Given the description of an element on the screen output the (x, y) to click on. 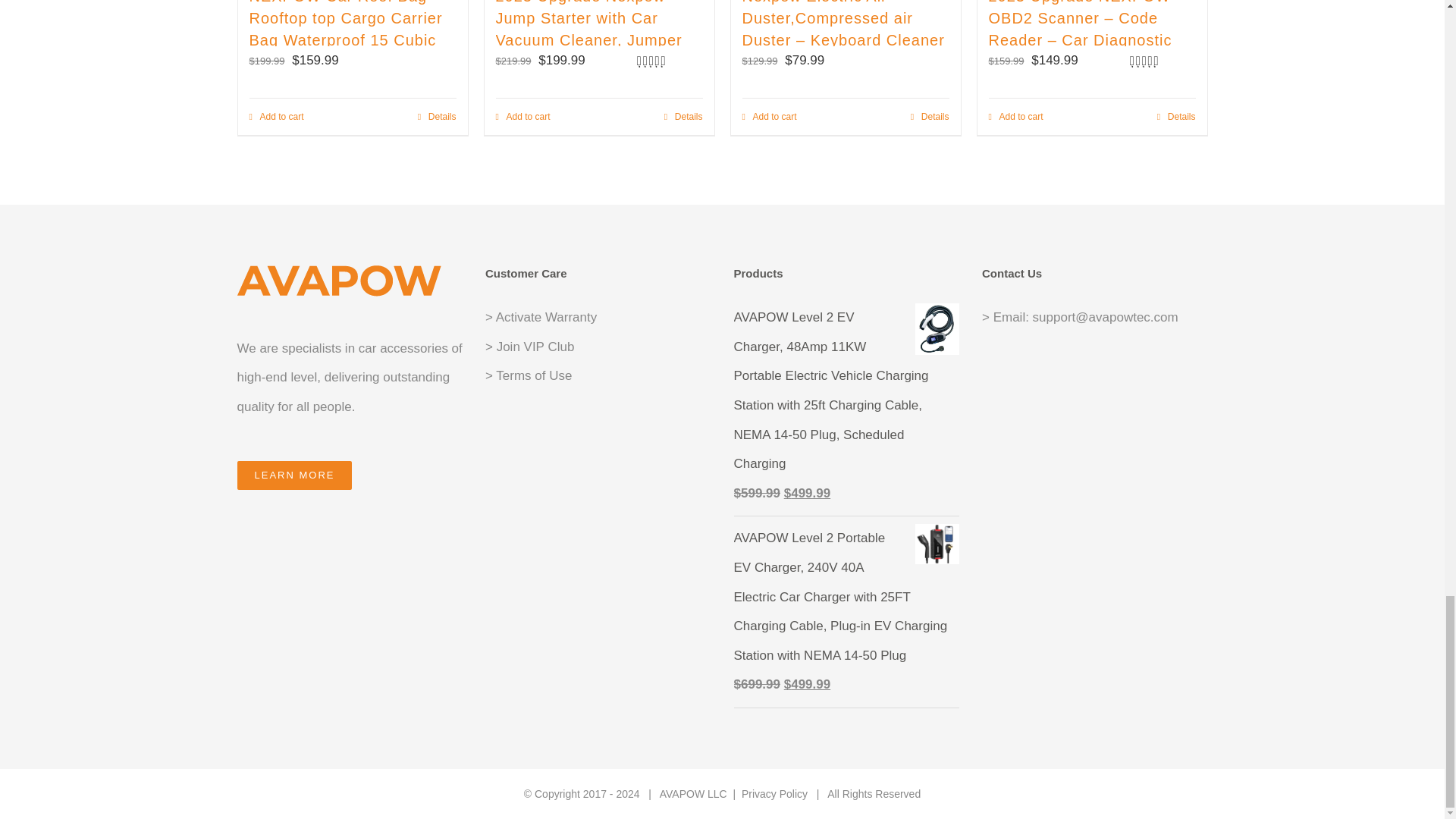
Details (683, 116)
Add to cart (523, 116)
Details (437, 116)
Add to cart (275, 116)
